Given the description of an element on the screen output the (x, y) to click on. 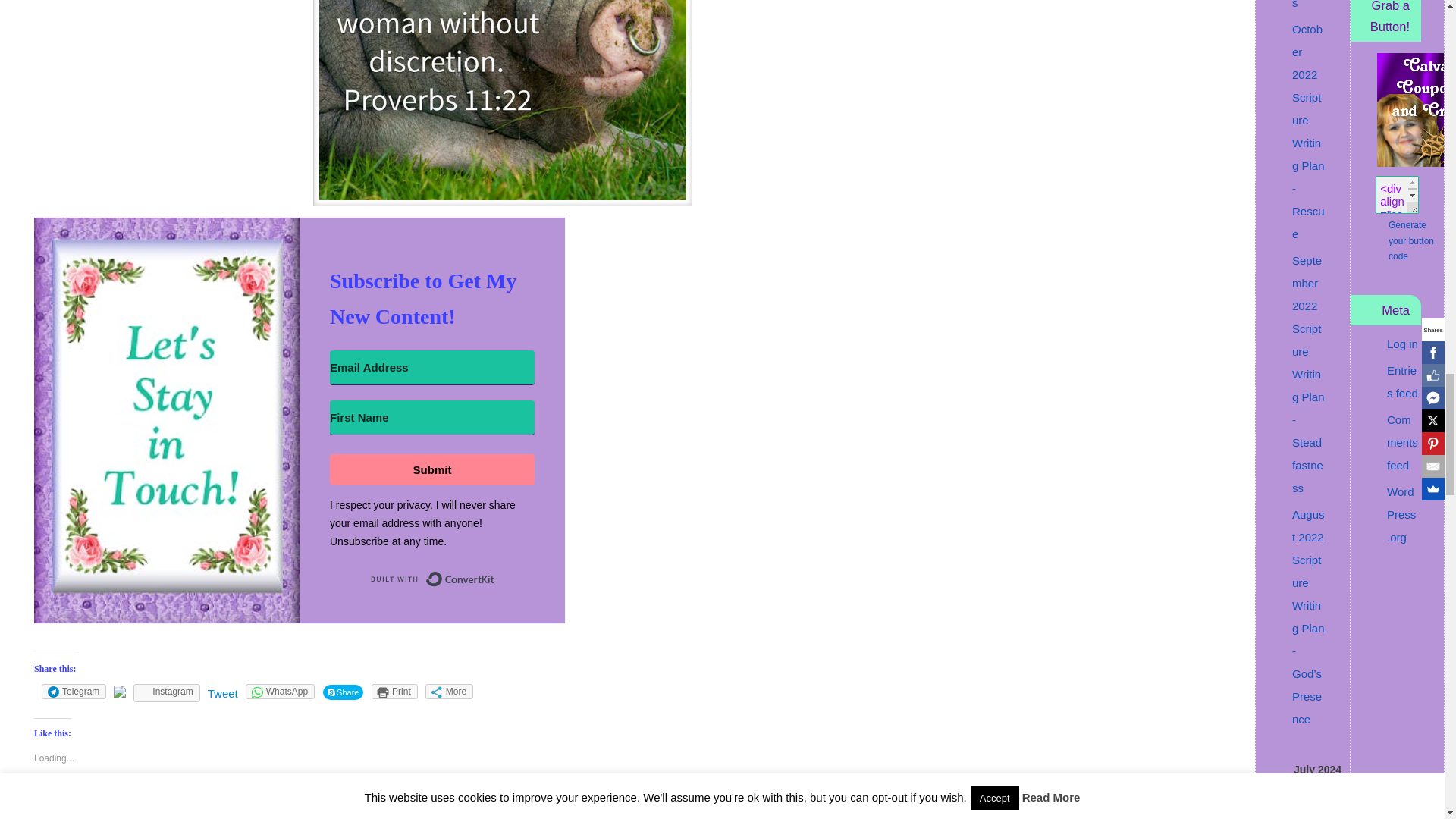
Tweet (223, 693)
Built with ConvertKit (432, 578)
Submit (432, 469)
Instagram (166, 692)
Telegram (74, 691)
